Given the description of an element on the screen output the (x, y) to click on. 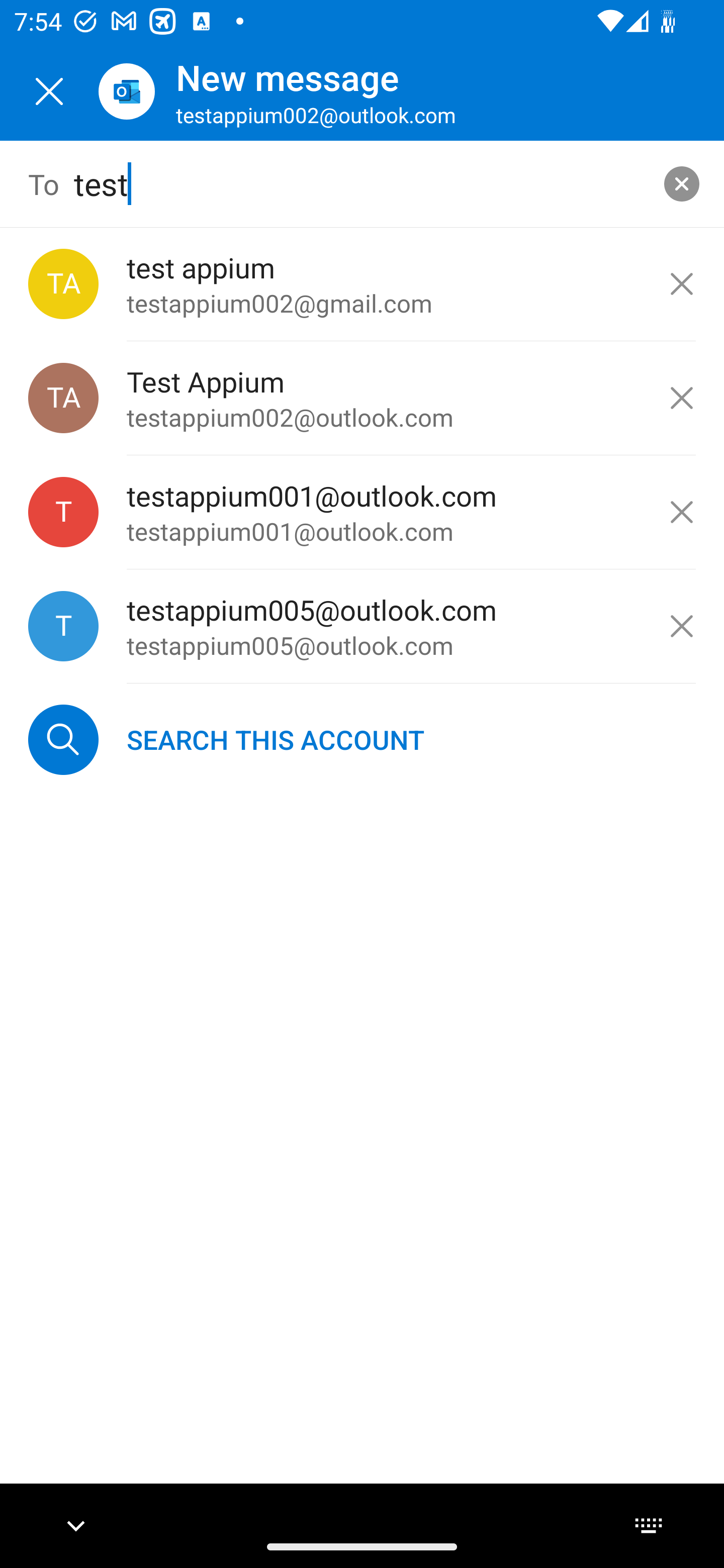
Close (49, 91)
test (362, 184)
clear search (681, 183)
